Given the description of an element on the screen output the (x, y) to click on. 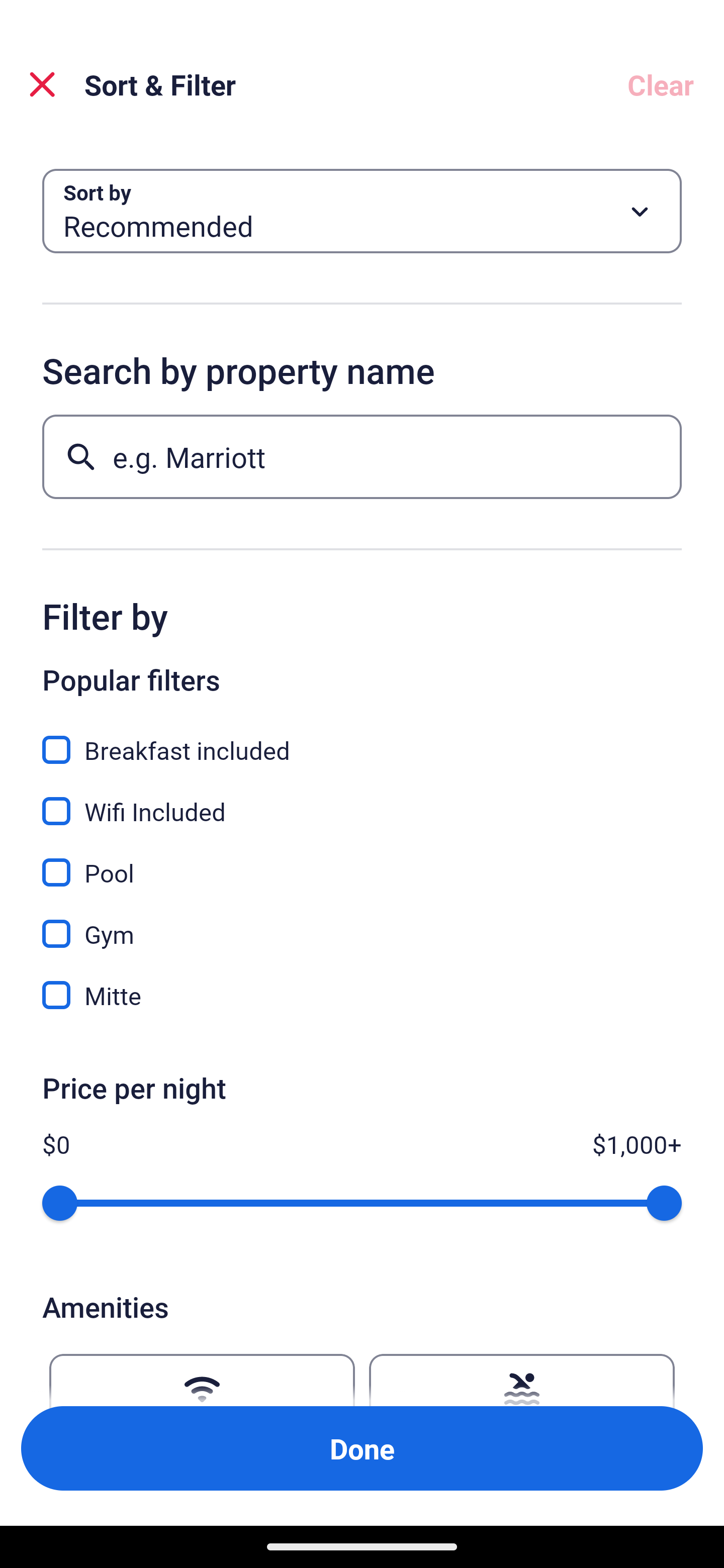
Close Sort and Filter (42, 84)
Clear (660, 84)
Sort by Button Recommended (361, 211)
e.g. Marriott Button (361, 455)
Breakfast included, Breakfast included (361, 738)
Wifi Included, Wifi Included (361, 800)
Pool, Pool (361, 861)
Gym, Gym (361, 922)
Mitte, Mitte (361, 995)
Apply and close Sort and Filter Done (361, 1448)
